Given the description of an element on the screen output the (x, y) to click on. 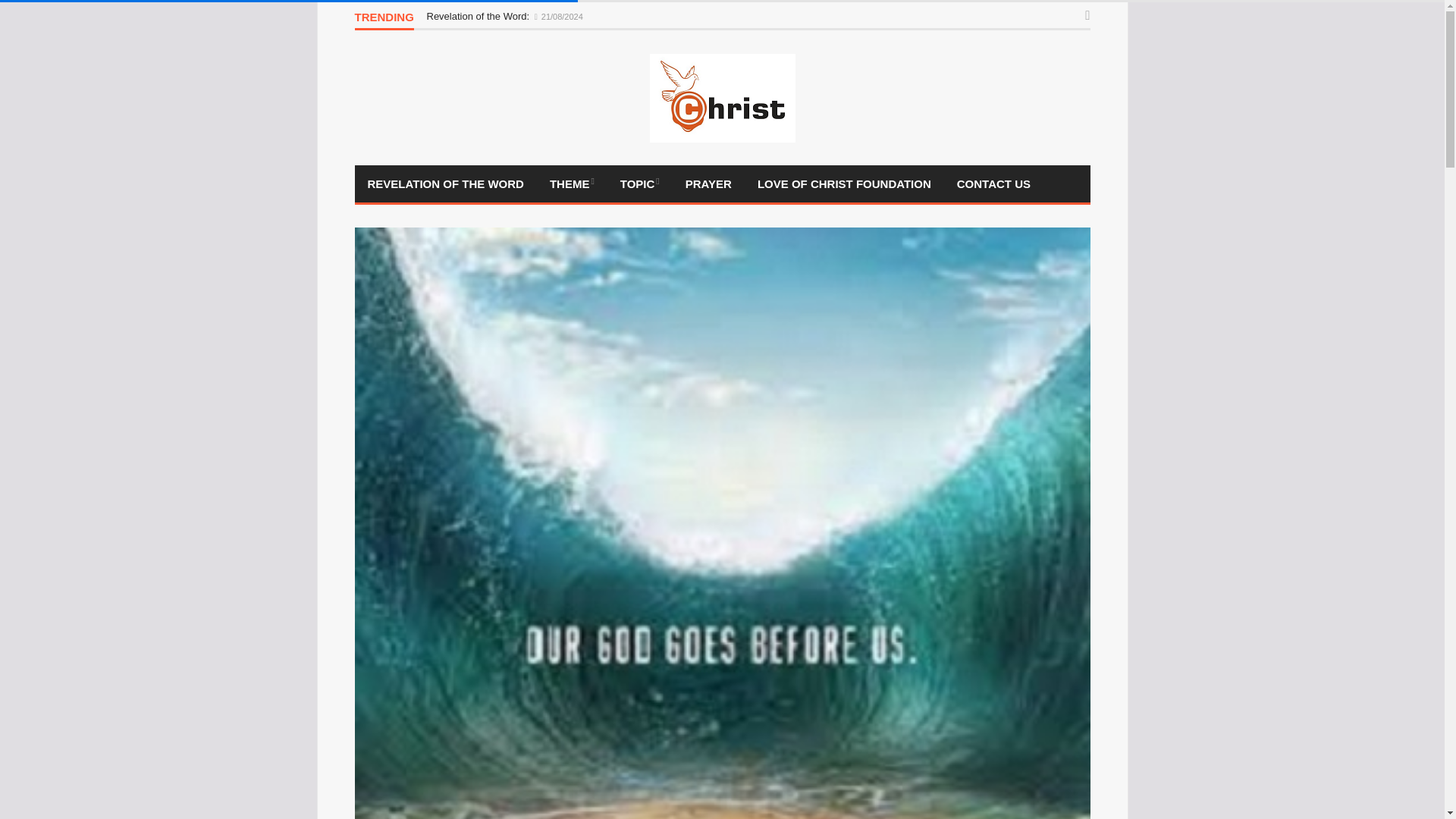
THEME (572, 183)
TRENDING (384, 20)
Revelation Of The Word (446, 183)
Topic (639, 183)
Love of Christ Foundation (843, 183)
Prayer (708, 183)
Revelation of the Word: (478, 16)
PRAYER (708, 183)
Theme (572, 183)
Contact Us (993, 183)
